Given the description of an element on the screen output the (x, y) to click on. 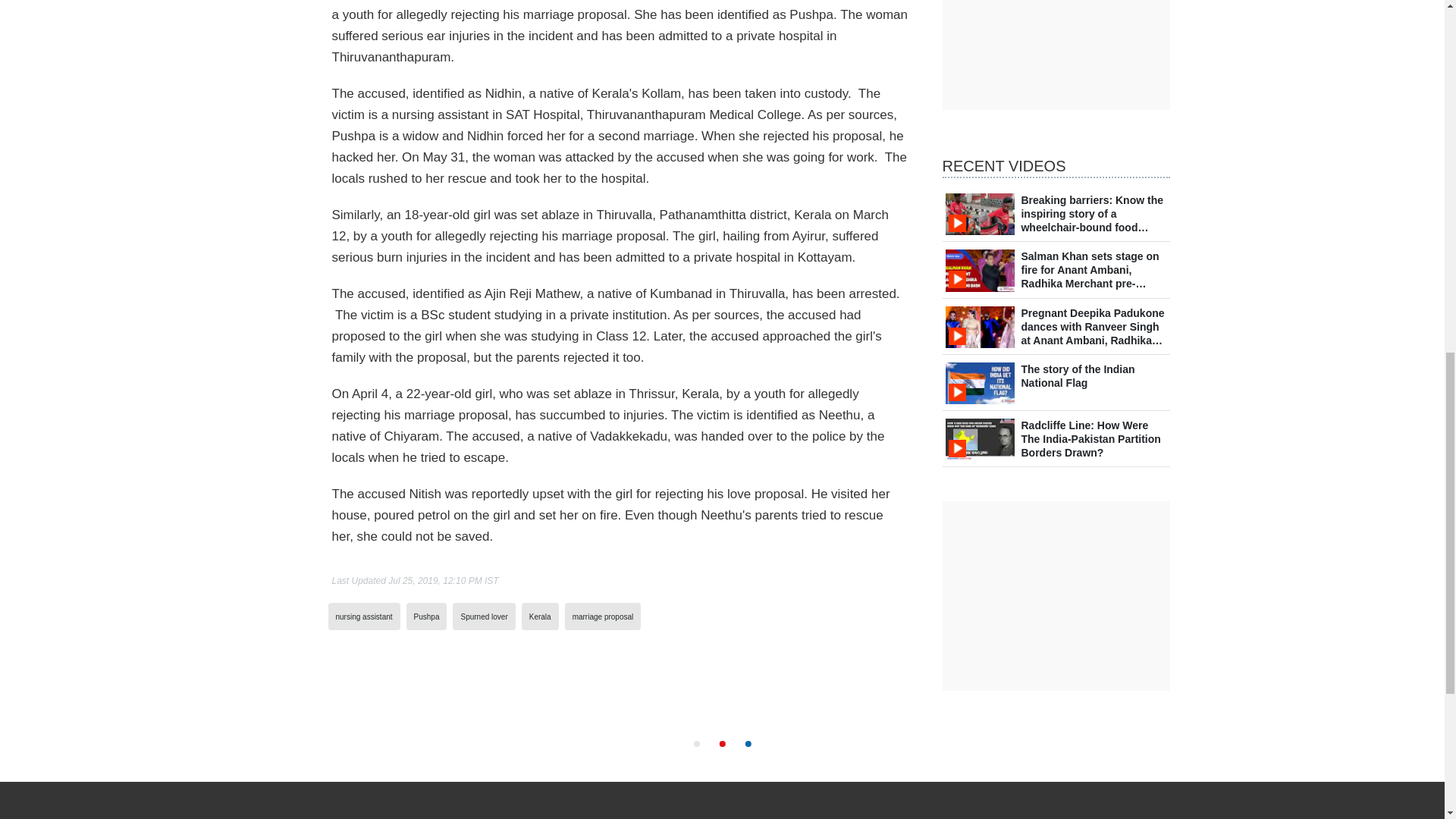
Kerala (540, 616)
marriage proposal (602, 616)
Pushpa (426, 616)
Spurned lover (483, 616)
nursing assistant (362, 616)
